Given the description of an element on the screen output the (x, y) to click on. 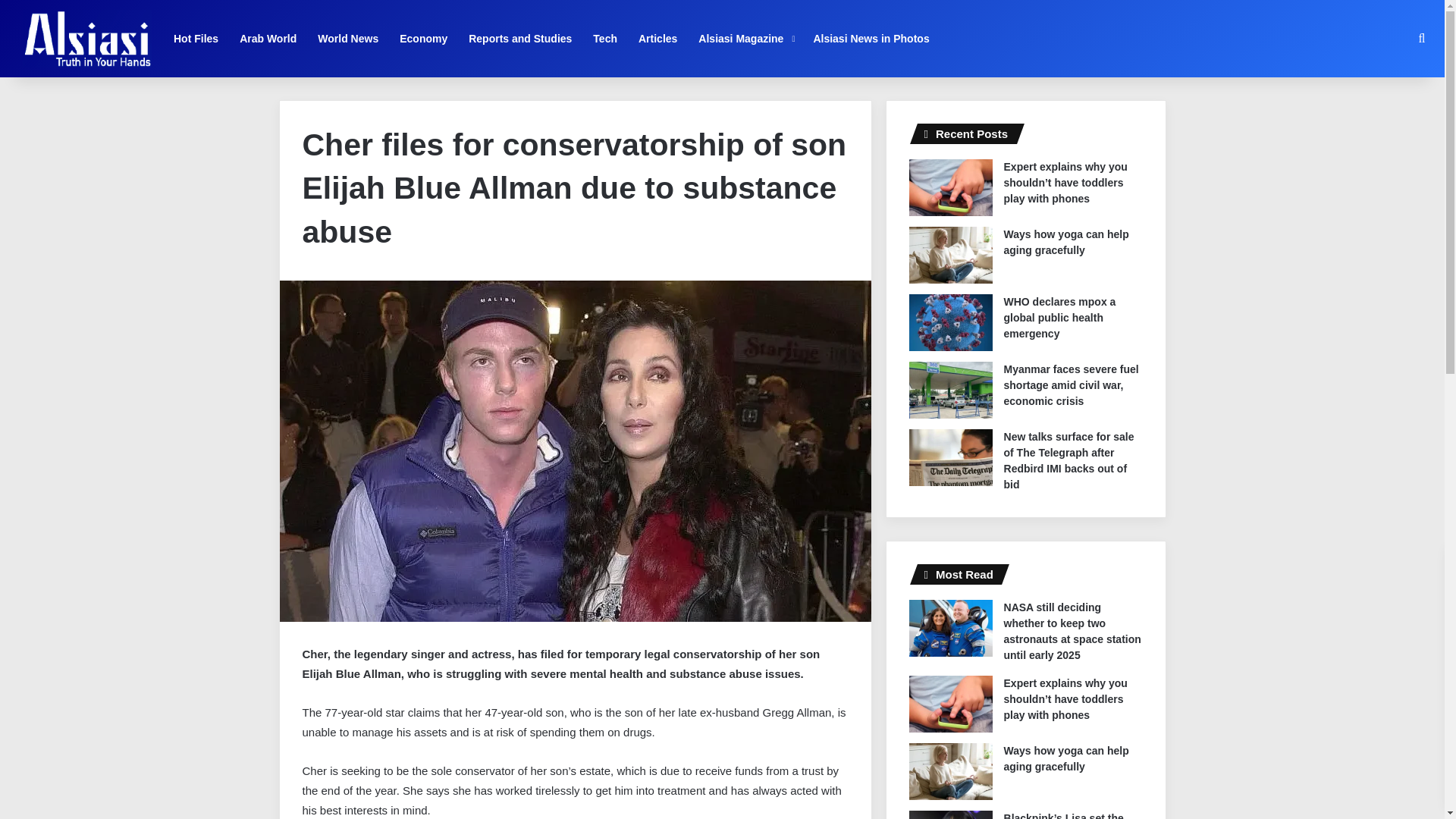
Alsiasi News in Photos (870, 38)
Arab World (267, 38)
Economy (423, 38)
Reports and Studies (520, 38)
Alsiasi Magazine (744, 38)
Alsiasi (87, 38)
World News (347, 38)
